Given the description of an element on the screen output the (x, y) to click on. 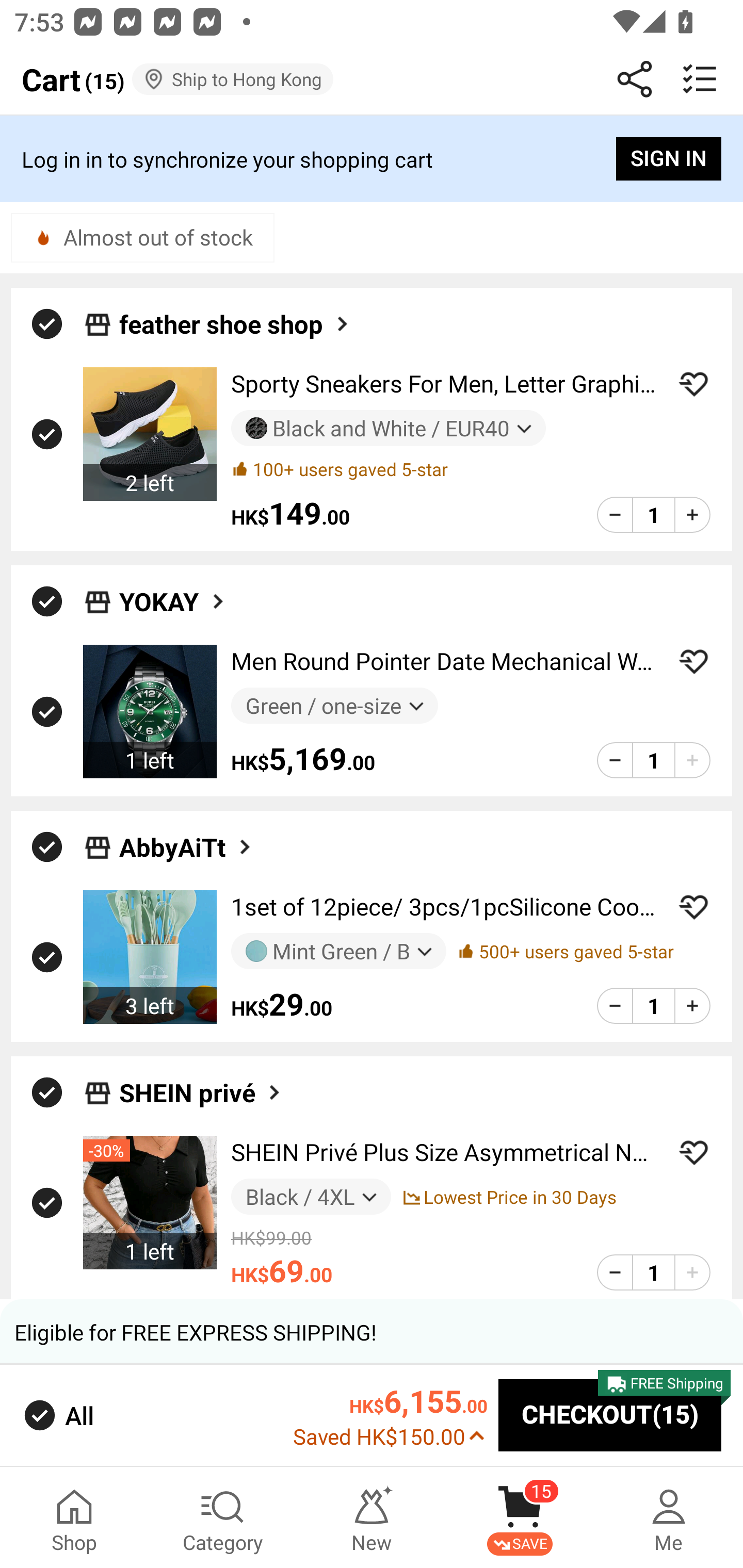
Cart (15) Ship to Hong Kong Share batch delete (371, 79)
Share (634, 79)
batch delete (699, 79)
Ship to Hong Kong (232, 78)
SIGN IN (668, 158)
Almost out of stock (142, 237)
feather shoe shop (235, 323)
ADD TO WISHLIST (693, 383)
 Black and White / EUR40 (388, 428)
product quantity minus 1 (614, 515)
1 edit product quantity (653, 515)
product quantity add 1 (692, 515)
YOKAY (173, 600)
ADD TO WISHLIST (693, 661)
Green / one-size (334, 705)
product quantity minus 1 (614, 759)
1 edit product quantity (653, 759)
product quantity add 1 (692, 759)
AbbyAiTt (186, 846)
ADD TO WISHLIST (693, 906)
 Mint Green / B (338, 950)
product quantity minus 1 (614, 1005)
1 edit product quantity (653, 1005)
product quantity add 1 (692, 1005)
SHEIN privé (201, 1092)
ADD TO WISHLIST (693, 1152)
Black / 4XL (310, 1197)
product quantity minus 1 (614, 1272)
1 edit product quantity (653, 1272)
product quantity add 1 (692, 1272)
Eligible for FREE EXPRESS SHIPPING! (371, 1331)
CHECKOUT(15) (609, 1415)
HK$6,155.00 Saved HK$150.00 (389, 1414)
All (57, 1415)
Shop (74, 1517)
Category (222, 1517)
New (371, 1517)
Me (668, 1517)
